Given the description of an element on the screen output the (x, y) to click on. 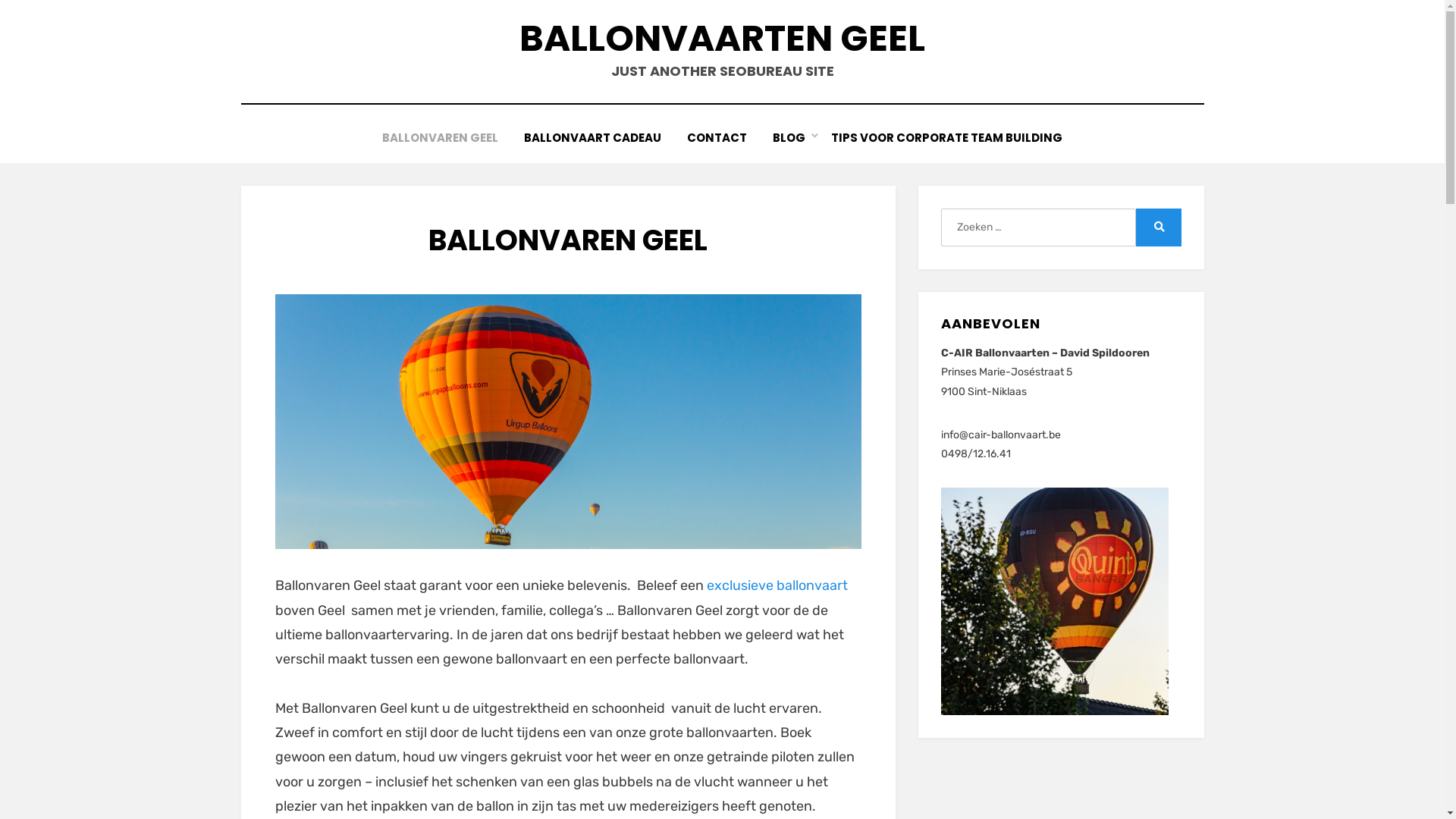
CONTACT Element type: text (716, 137)
Zoeken Element type: text (1158, 227)
BALLONVAREN GEEL Element type: text (440, 137)
BLOG Element type: text (788, 137)
0498/12.16.41 Element type: text (975, 453)
BALLONVAART CADEAU Element type: text (592, 137)
TIPS VOOR CORPORATE TEAM BUILDING Element type: text (946, 137)
info@cair-ballonvaart.be Element type: text (1000, 434)
BALLONVAARTEN GEEL Element type: text (722, 37)
exclusieve ballonvaart Element type: text (776, 585)
Zoeken naar: Element type: hover (1038, 227)
